Given the description of an element on the screen output the (x, y) to click on. 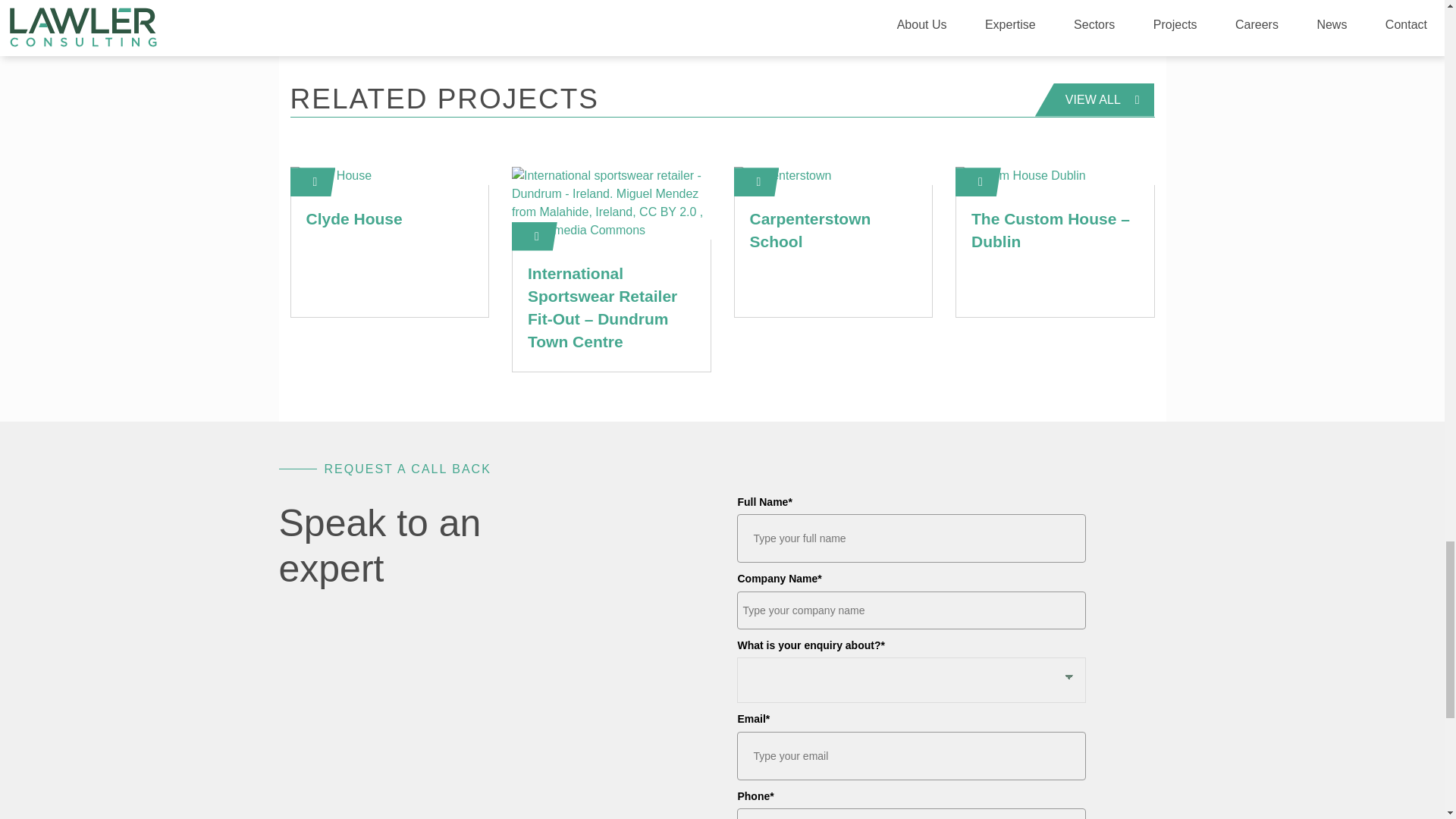
VIEW ALL (1094, 100)
Clyde House (354, 218)
Carpenterstown School (809, 229)
